Given the description of an element on the screen output the (x, y) to click on. 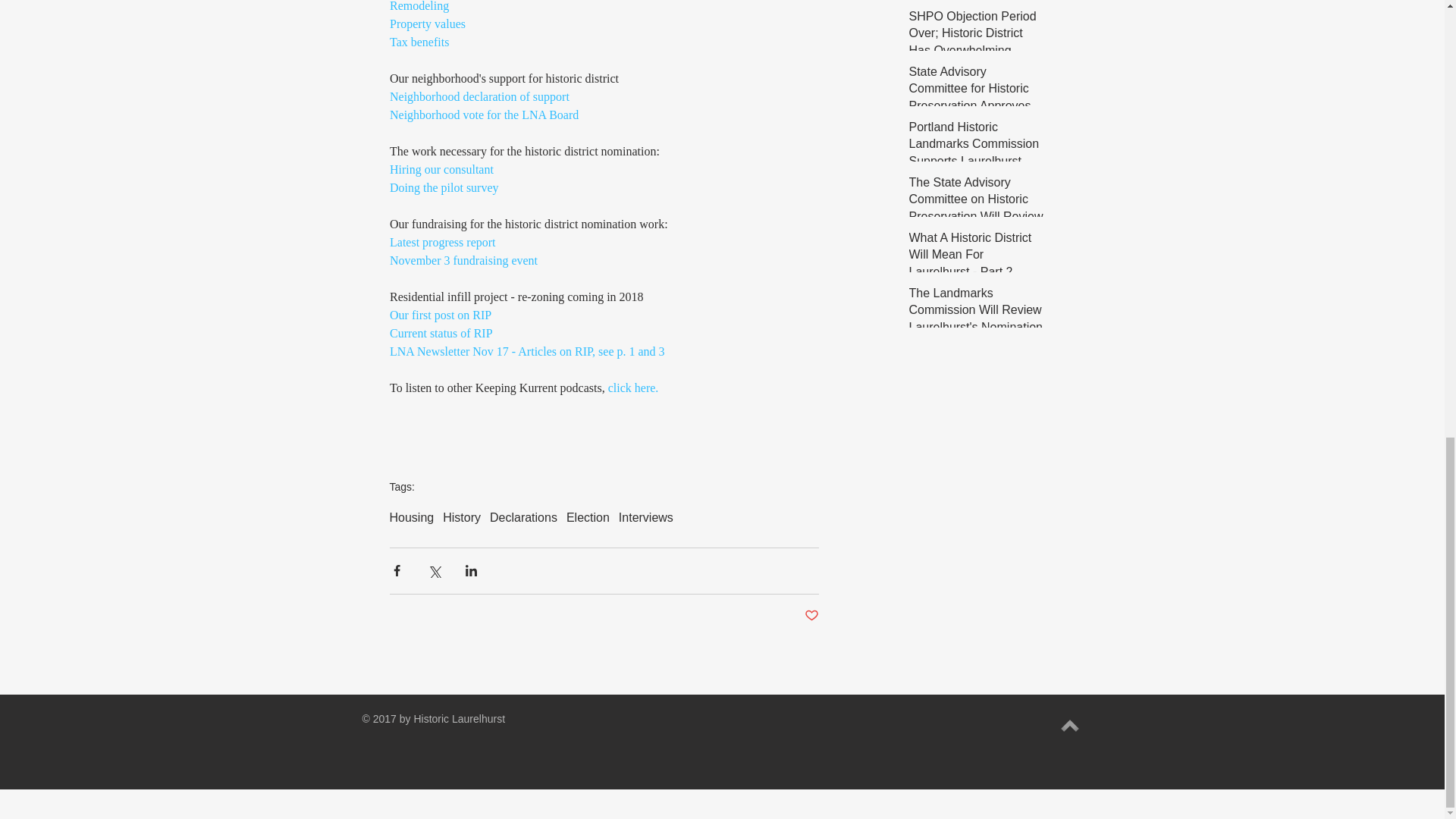
Post not marked as liked (810, 616)
Remodeling (419, 6)
History (461, 517)
Property values (427, 23)
Declarations (523, 517)
LNA Newsletter Nov 17 - Articles on RIP, see p. 1 and 3 (527, 350)
Election (588, 517)
Interviews (645, 517)
Doing the pilot survey (444, 187)
Hiring our consultant (441, 169)
